Given the description of an element on the screen output the (x, y) to click on. 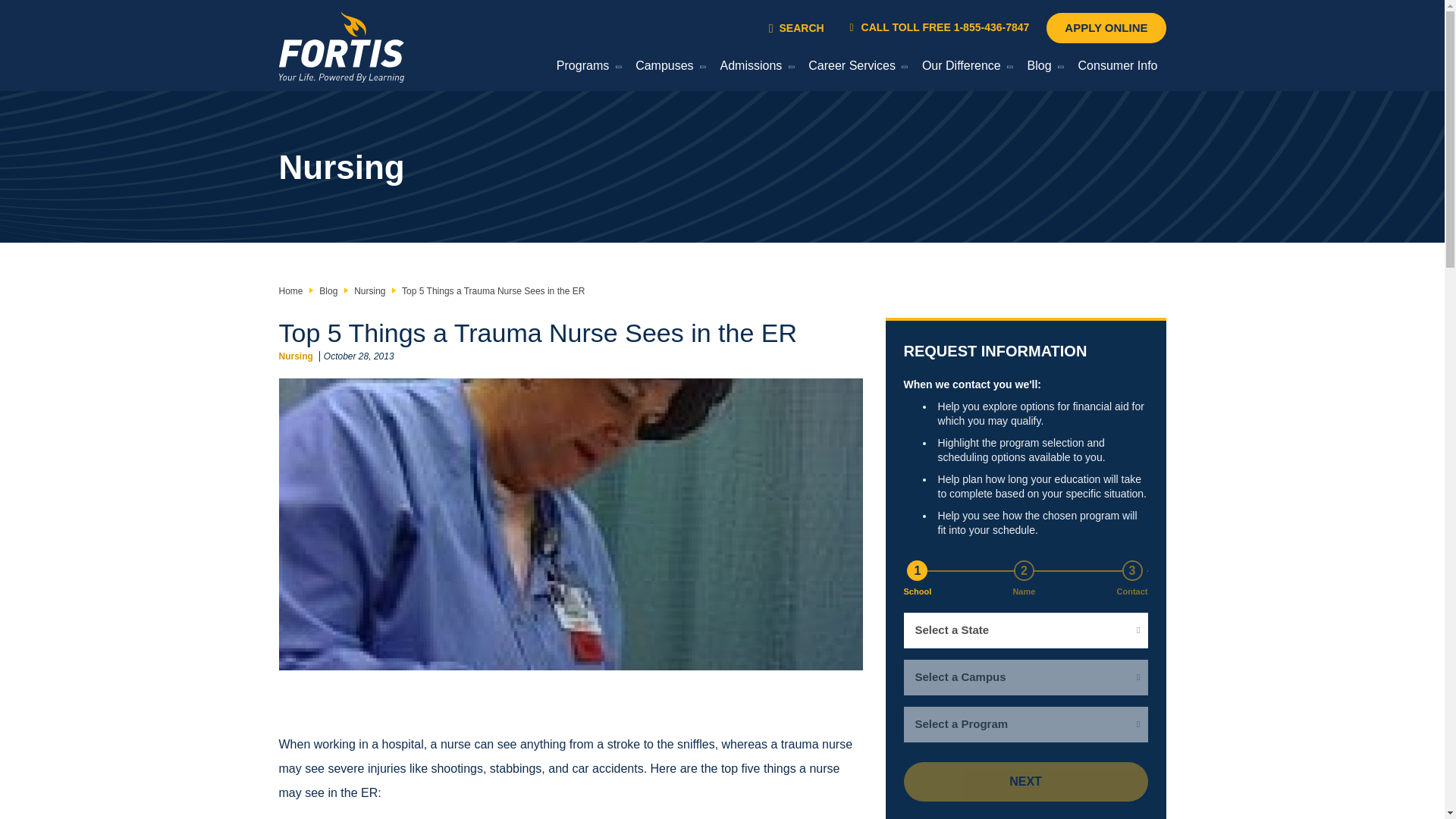
CALL TOLL FREE 1-855-436-7847 (939, 27)
APPLY ONLINE (1106, 28)
Campuses (667, 67)
Programs (585, 67)
